Given the description of an element on the screen output the (x, y) to click on. 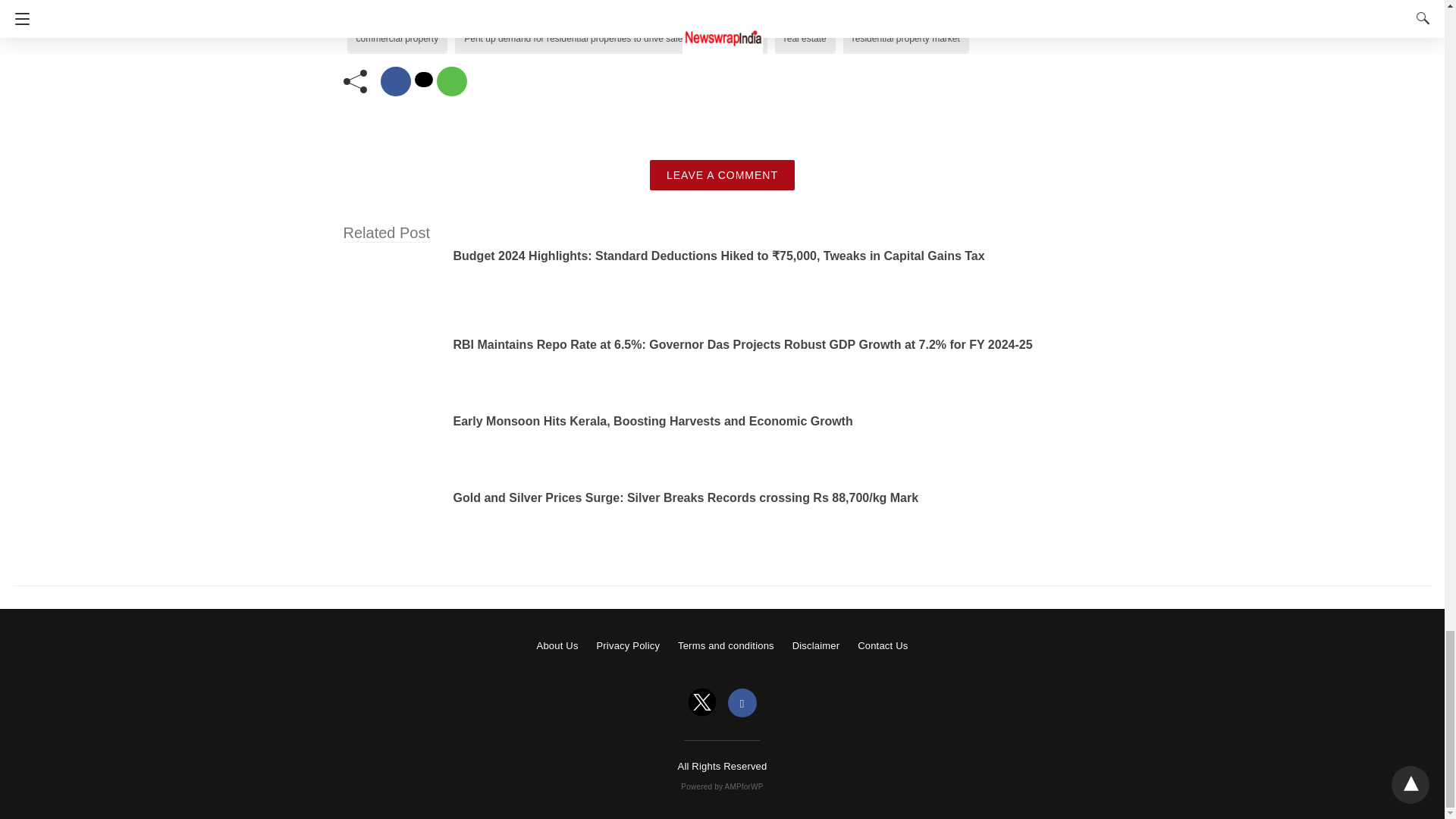
Privacy Policy (627, 645)
AMP for WP (721, 786)
facebook share (395, 81)
residential property market (905, 38)
commercial property (397, 38)
Terms and conditions (726, 645)
Contact Us (882, 645)
About Us (557, 645)
Disclaimer (816, 645)
